Given the description of an element on the screen output the (x, y) to click on. 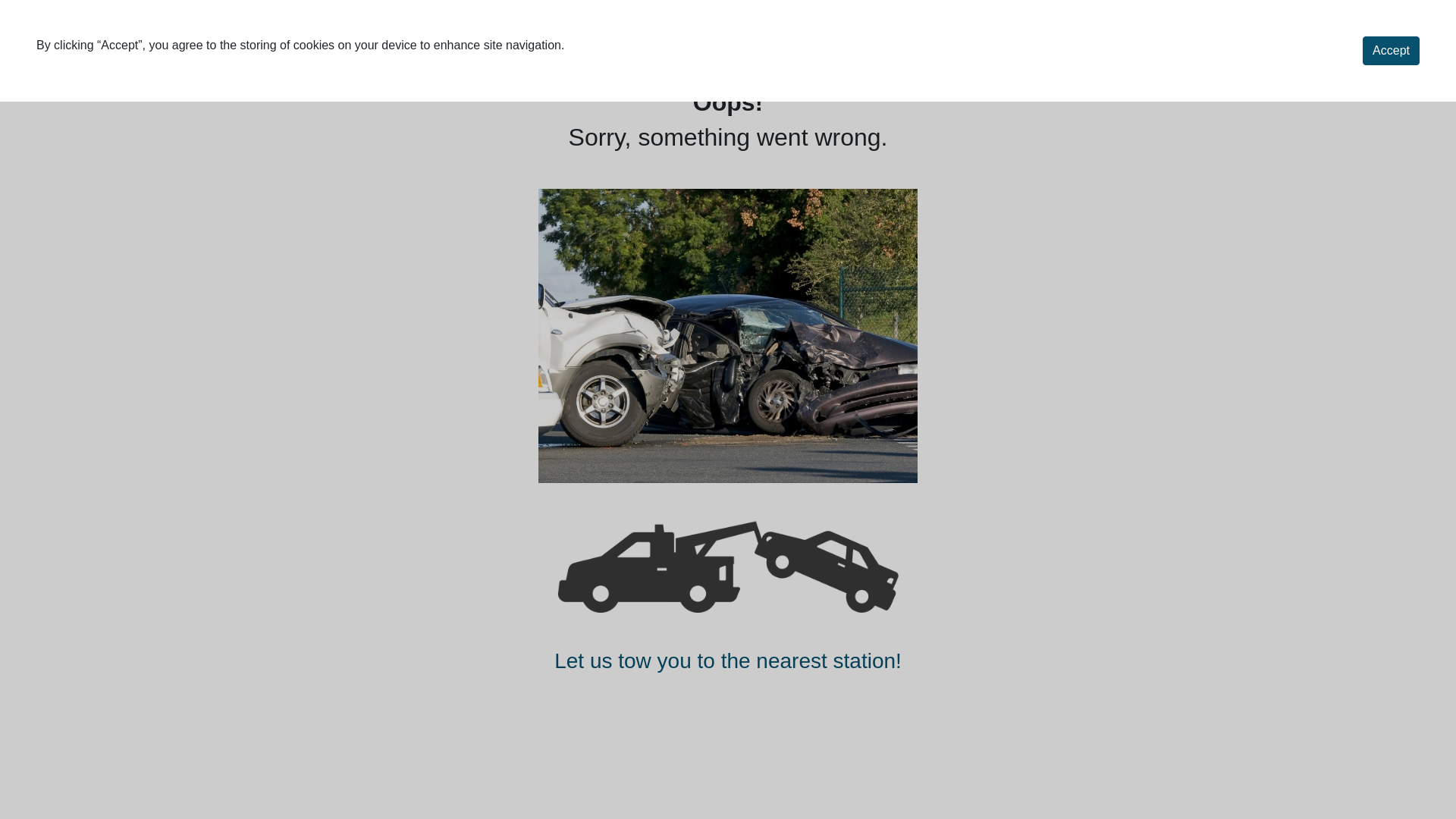
500 Element type: hover (727, 335)
AutoExpert Element type: hover (100, 42)
Accept Element type: text (1390, 50)
Let us tow you to the nearest station! Element type: text (727, 661)
500 Element type: hover (727, 565)
